Given the description of an element on the screen output the (x, y) to click on. 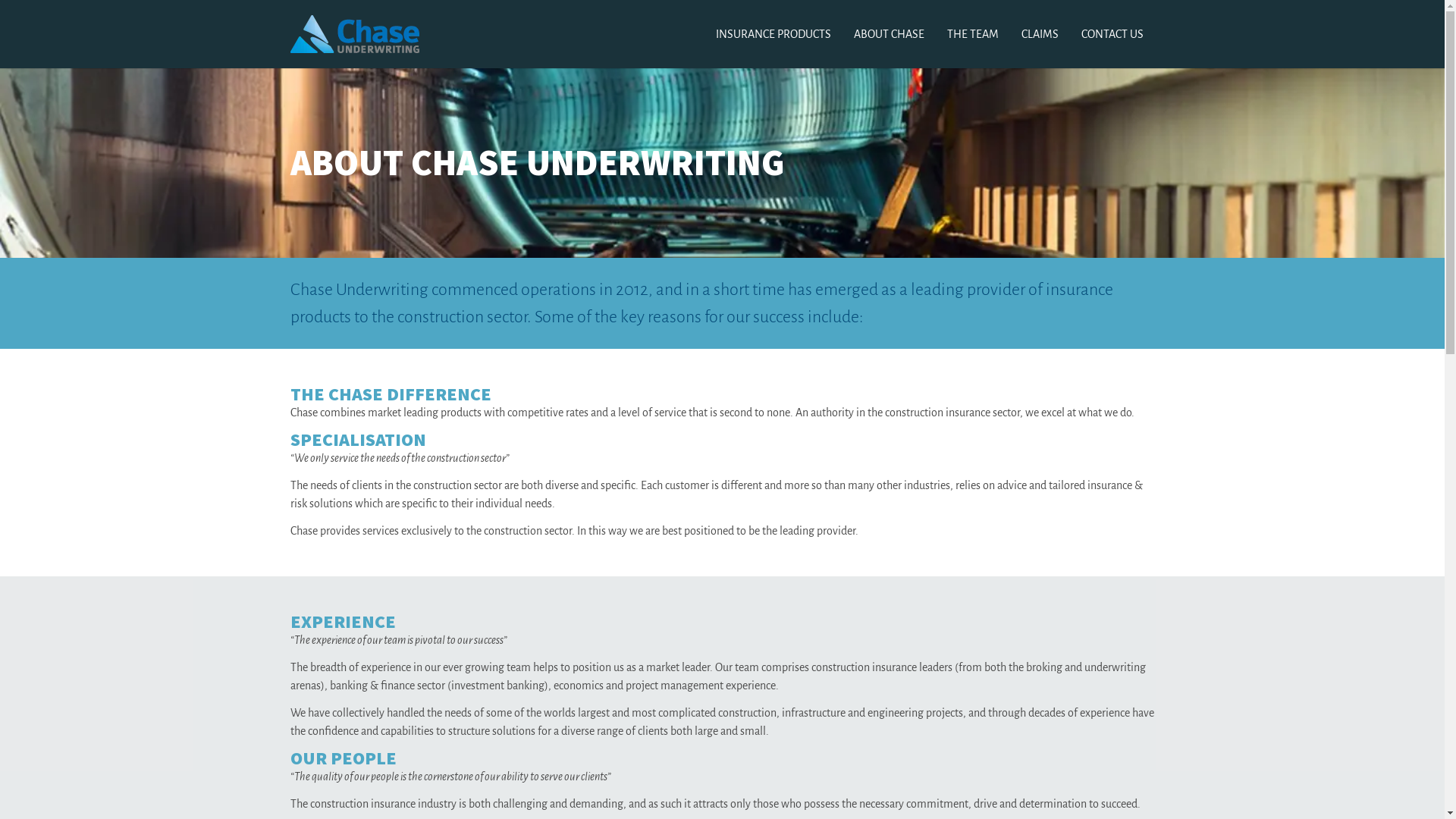
ABOUT CHASE Element type: text (888, 34)
CLAIMS Element type: text (1040, 34)
THE TEAM Element type: text (972, 34)
INSURANCE PRODUCTS Element type: text (772, 34)
CONTACT US Element type: text (1111, 34)
